Given the description of an element on the screen output the (x, y) to click on. 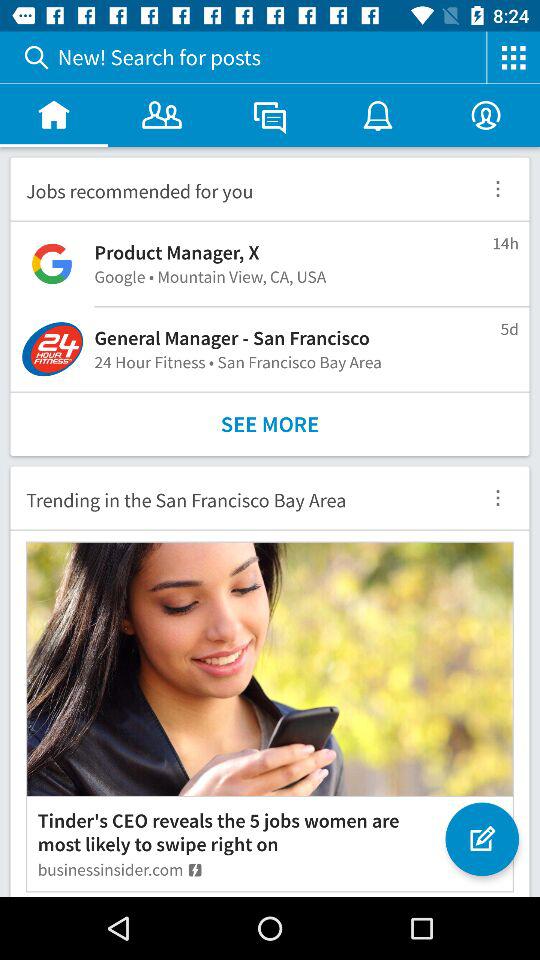
flip until jobs recommended for icon (238, 188)
